Given the description of an element on the screen output the (x, y) to click on. 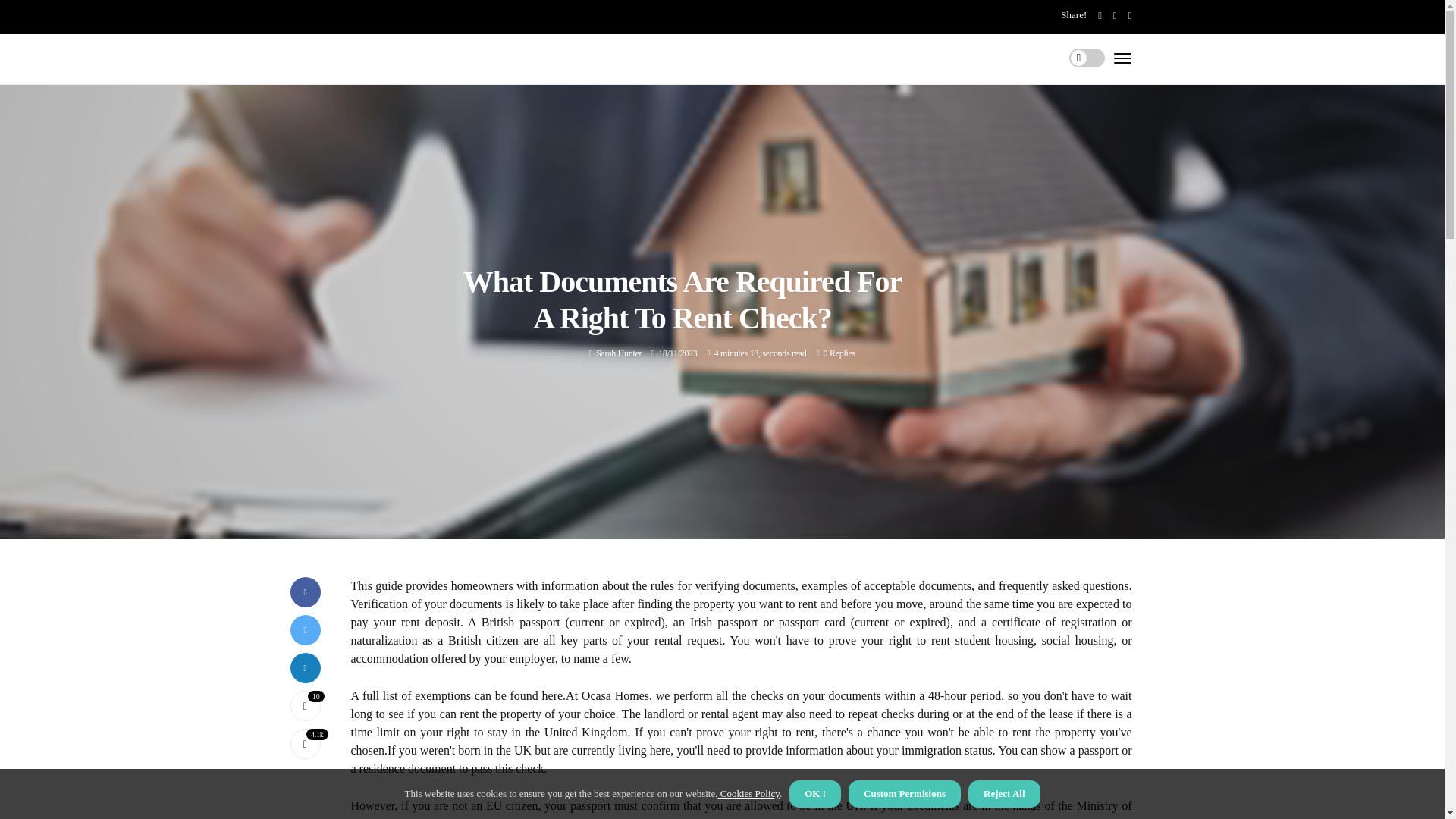
Like (304, 706)
0 Replies (840, 353)
Sarah Hunter (618, 353)
Posts by Sarah Hunter (618, 353)
10 (304, 706)
